Given the description of an element on the screen output the (x, y) to click on. 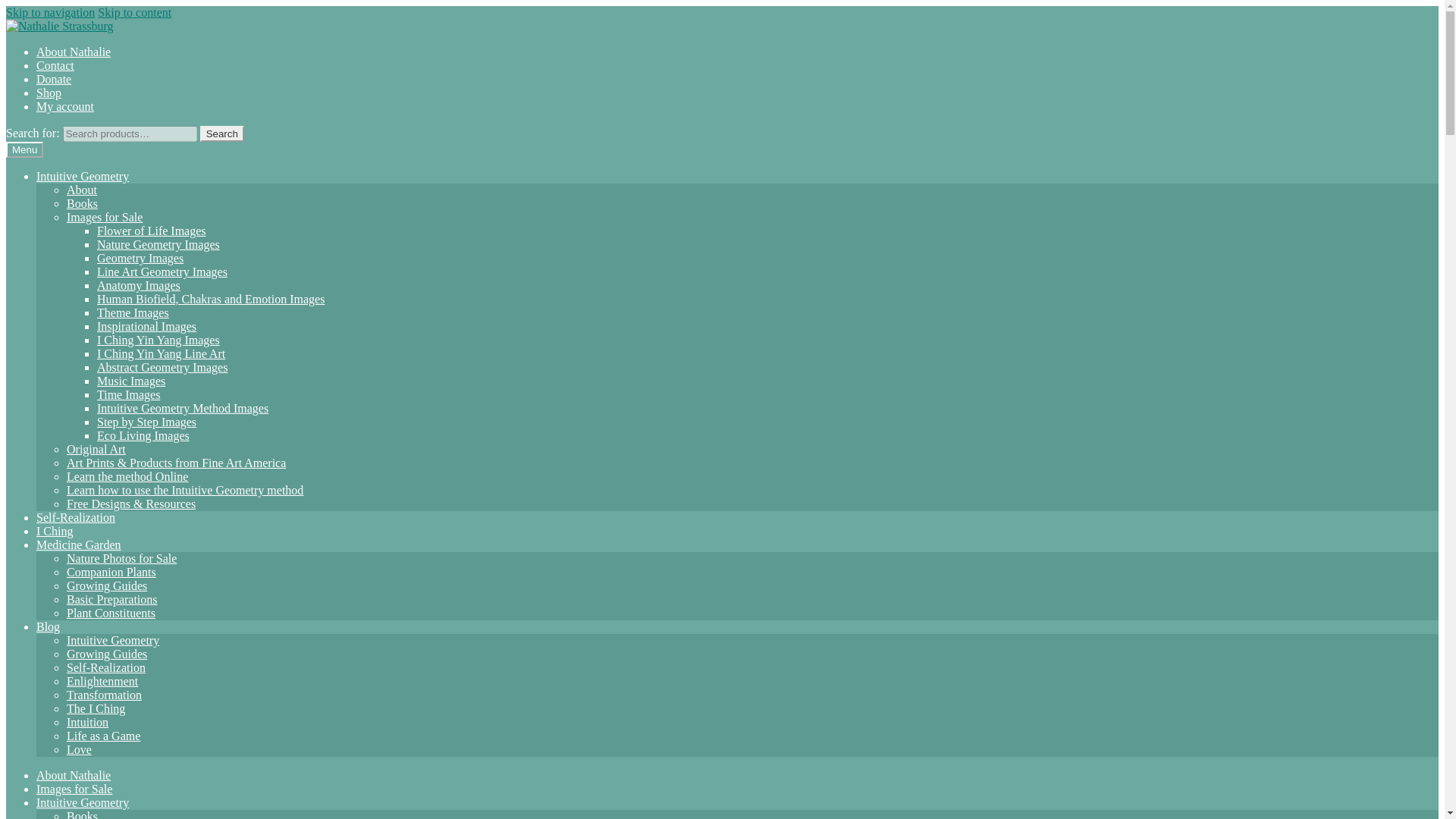
About (81, 189)
Donate (53, 78)
My account (65, 106)
Eco Living Images (143, 435)
Flower of Life Images (151, 230)
I Ching Yin Yang Images (158, 339)
Self-Realization (75, 517)
Nature Geometry Images (158, 244)
Contact (55, 65)
Step by Step Images (146, 421)
I Ching Yin Yang Line Art (161, 353)
Theme Images (132, 312)
Images for Sale (104, 216)
Geometry Images (140, 257)
Anatomy Images (138, 285)
